Given the description of an element on the screen output the (x, y) to click on. 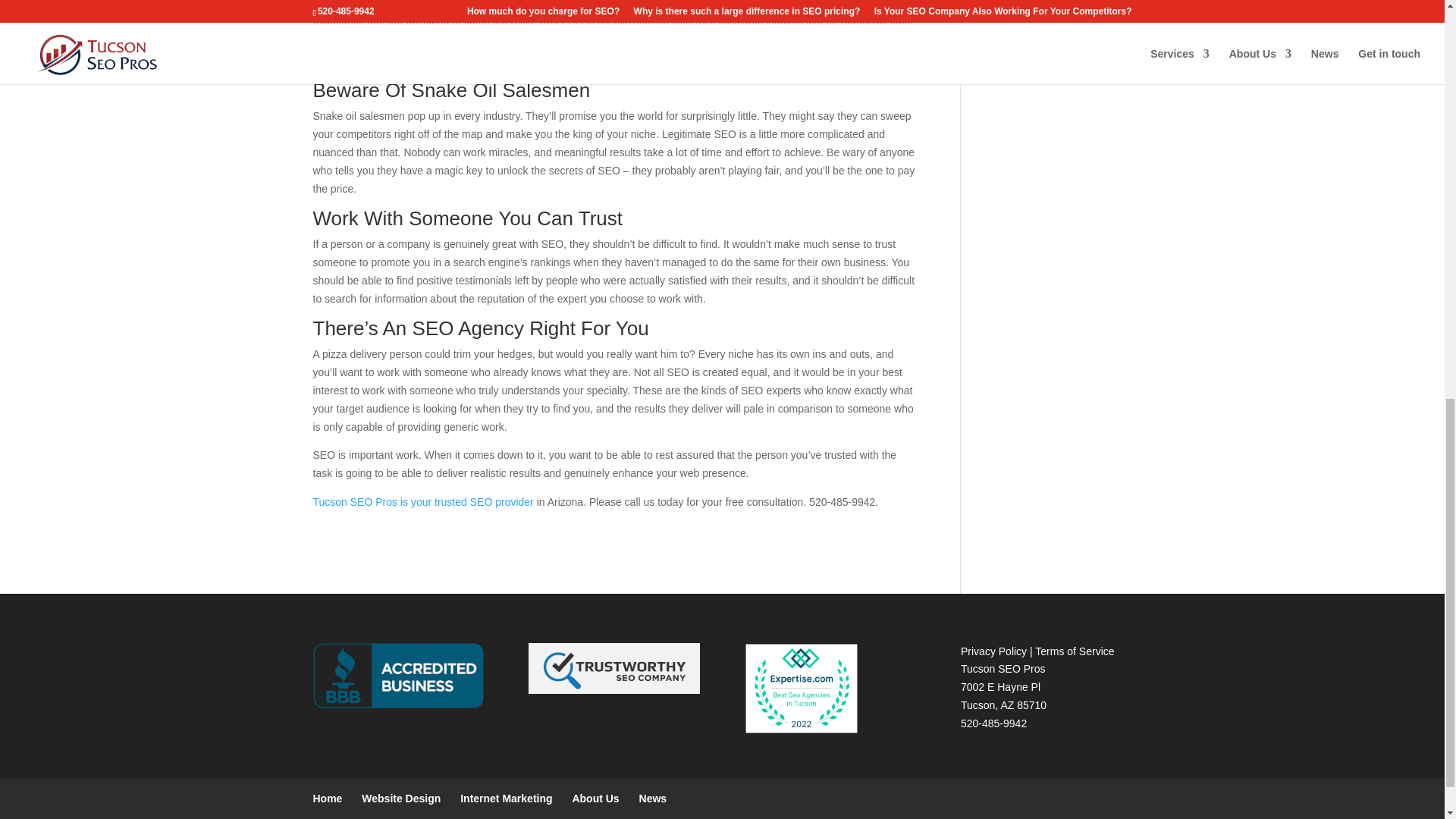
Website Design (401, 798)
Privacy Policy (993, 651)
Tucson SEO Pros is your trusted SEO provider (422, 501)
Home (327, 798)
Terms of Service (1074, 651)
